Given the description of an element on the screen output the (x, y) to click on. 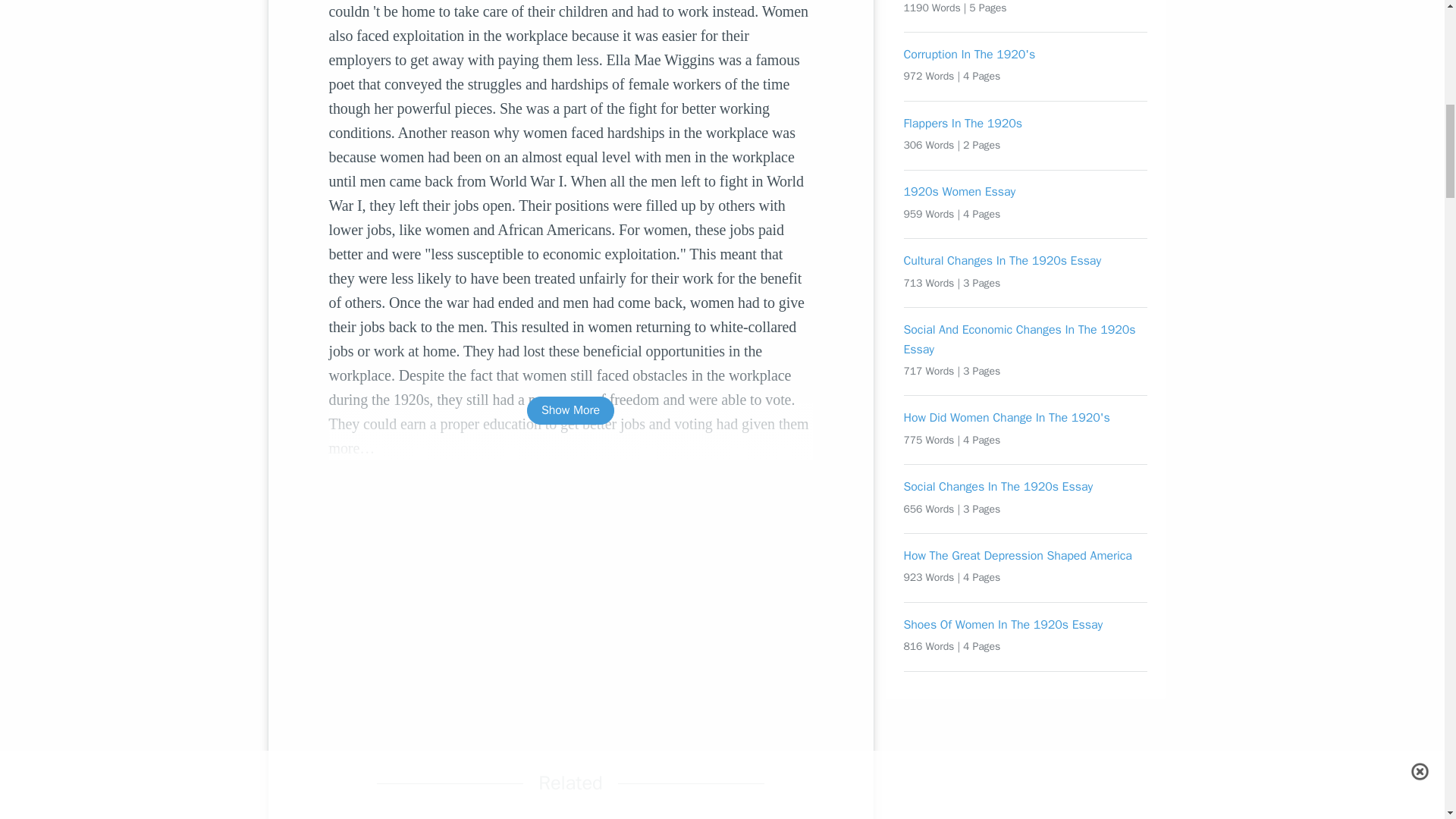
Show More (570, 410)
